Given the description of an element on the screen output the (x, y) to click on. 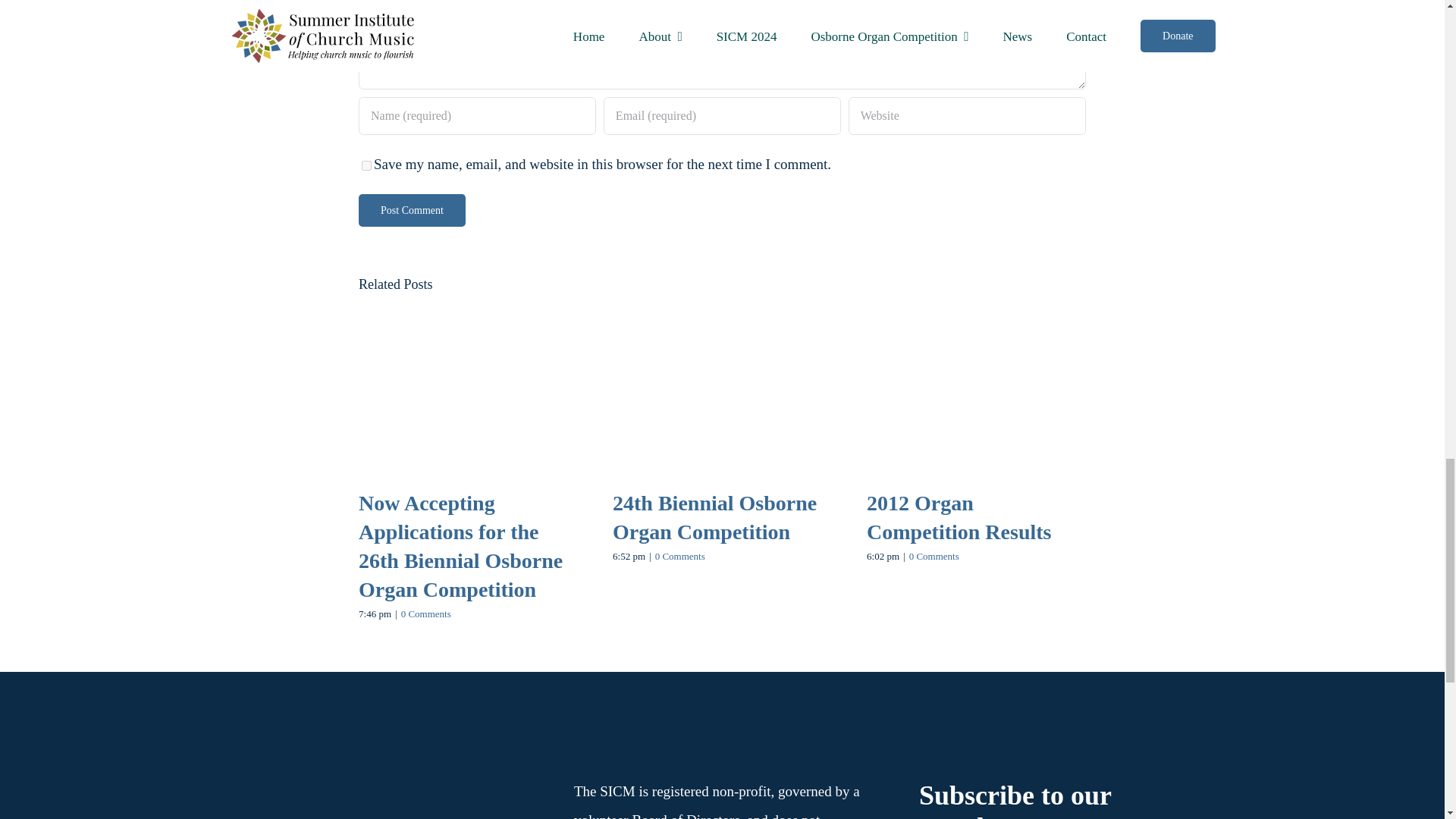
24th Biennial Osborne Organ Competition (714, 517)
yes (366, 165)
Post Comment (411, 210)
2012 Organ Competition Results (958, 517)
